Given the description of an element on the screen output the (x, y) to click on. 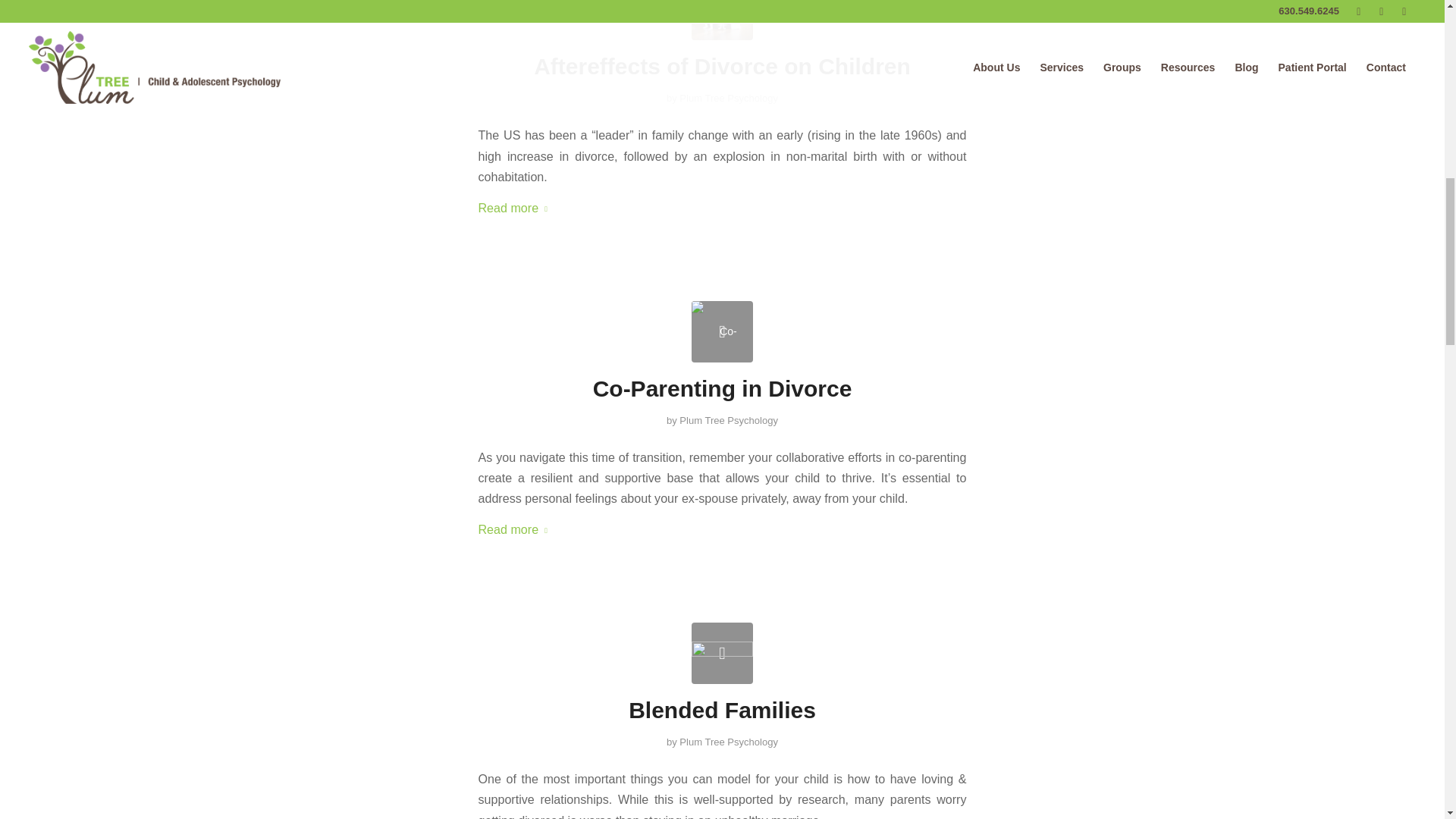
Posts by Plum Tree Psychology (728, 98)
Aftereffects of Divorce on Children (721, 20)
Permanent Link: Aftereffects of Divorce on Children (722, 66)
